Given the description of an element on the screen output the (x, y) to click on. 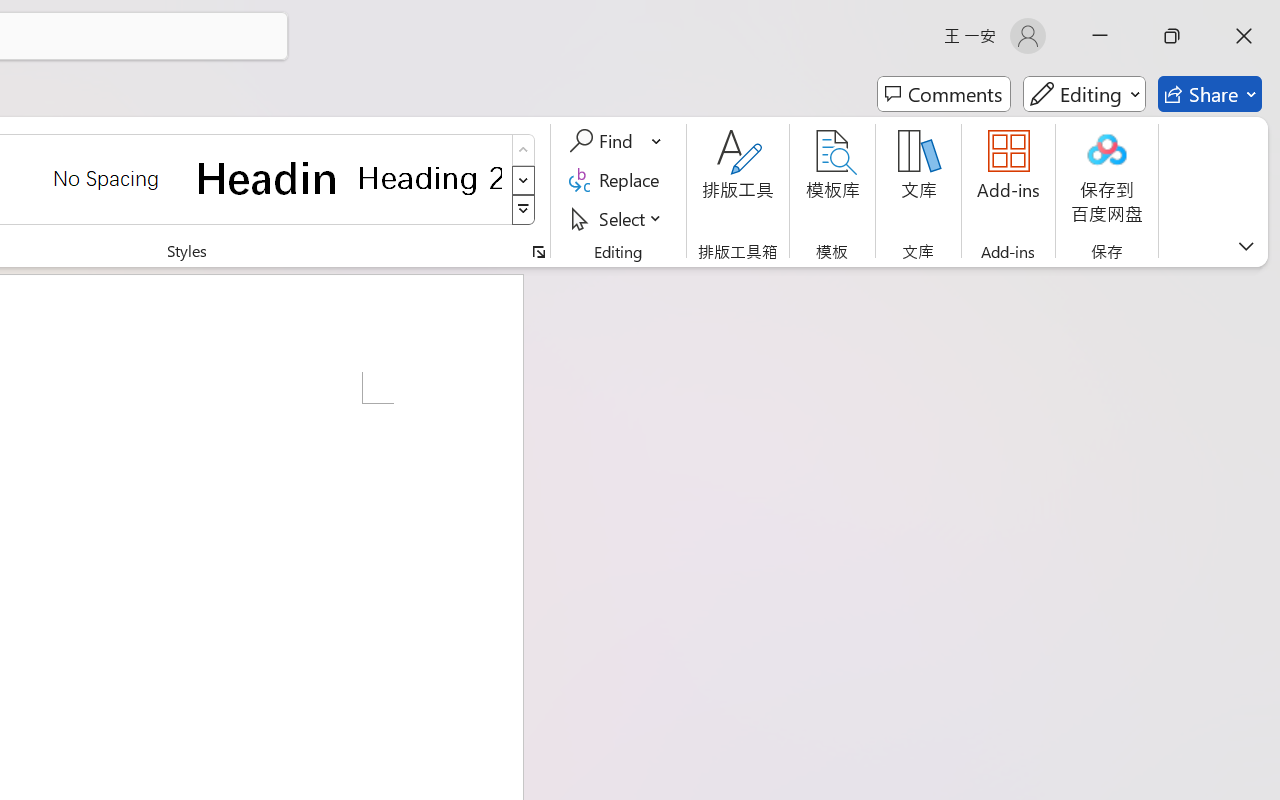
Select (618, 218)
Styles (523, 209)
